Given the description of an element on the screen output the (x, y) to click on. 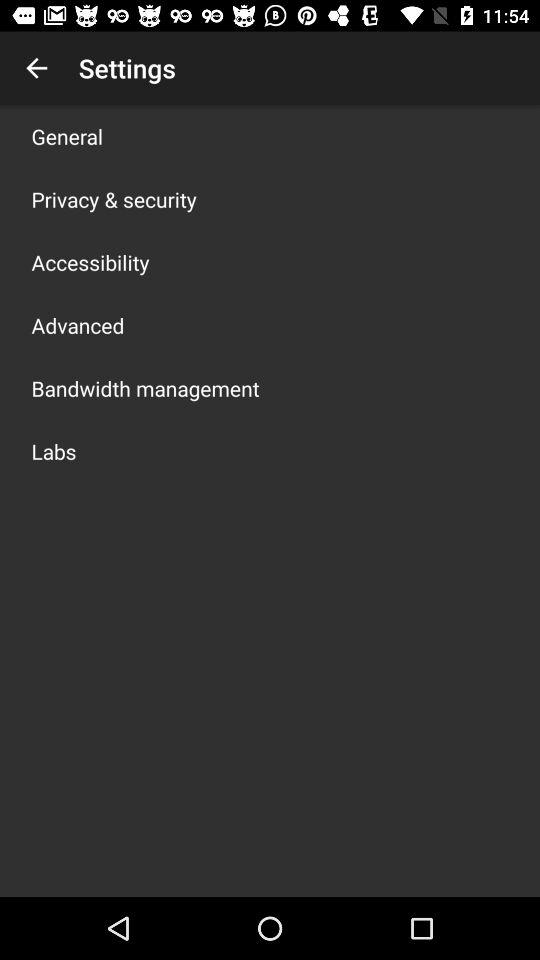
swipe to advanced (77, 325)
